Given the description of an element on the screen output the (x, y) to click on. 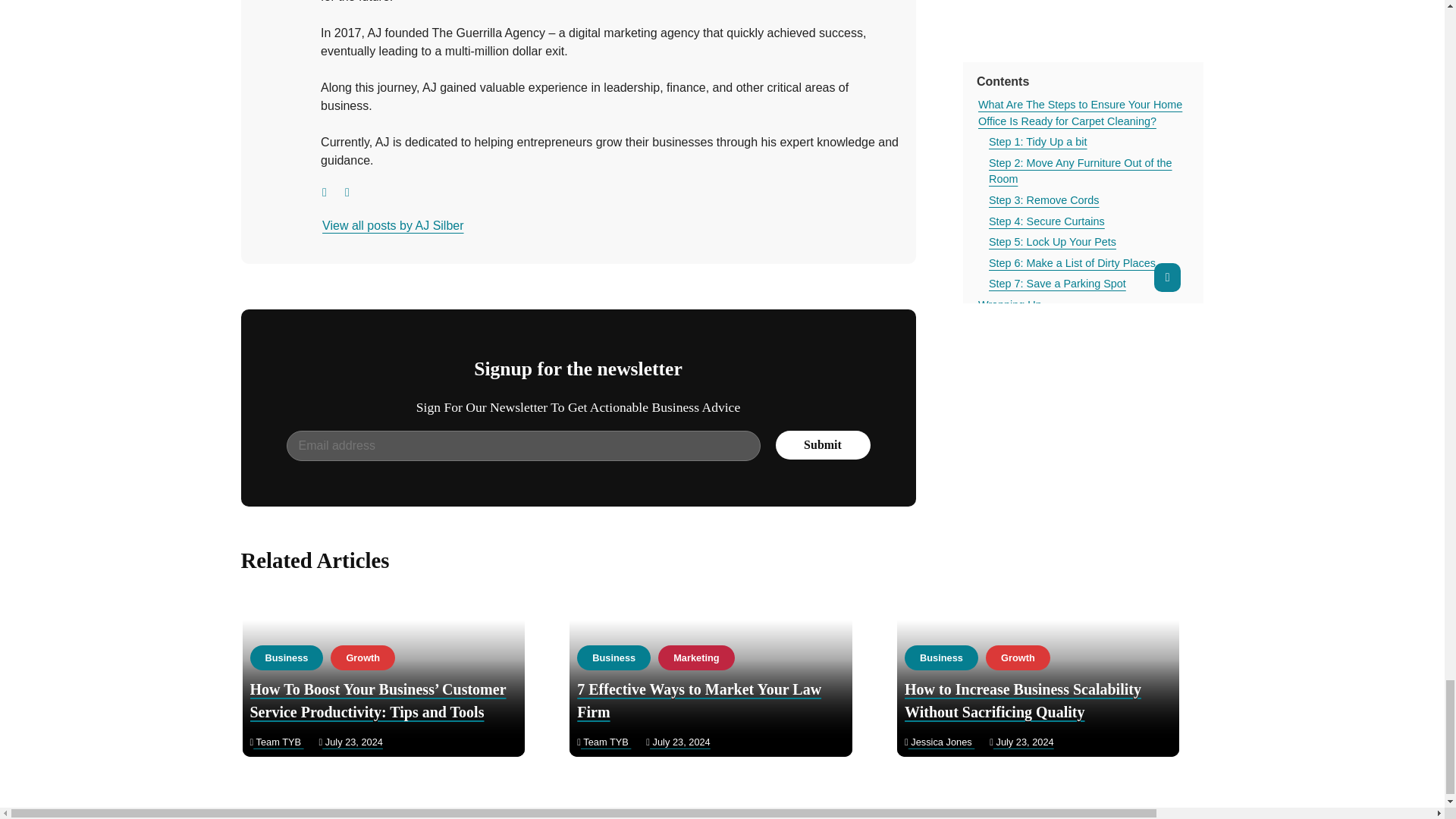
Submit (821, 444)
Submit (821, 444)
View all posts by AJ Silber (392, 225)
